Given the description of an element on the screen output the (x, y) to click on. 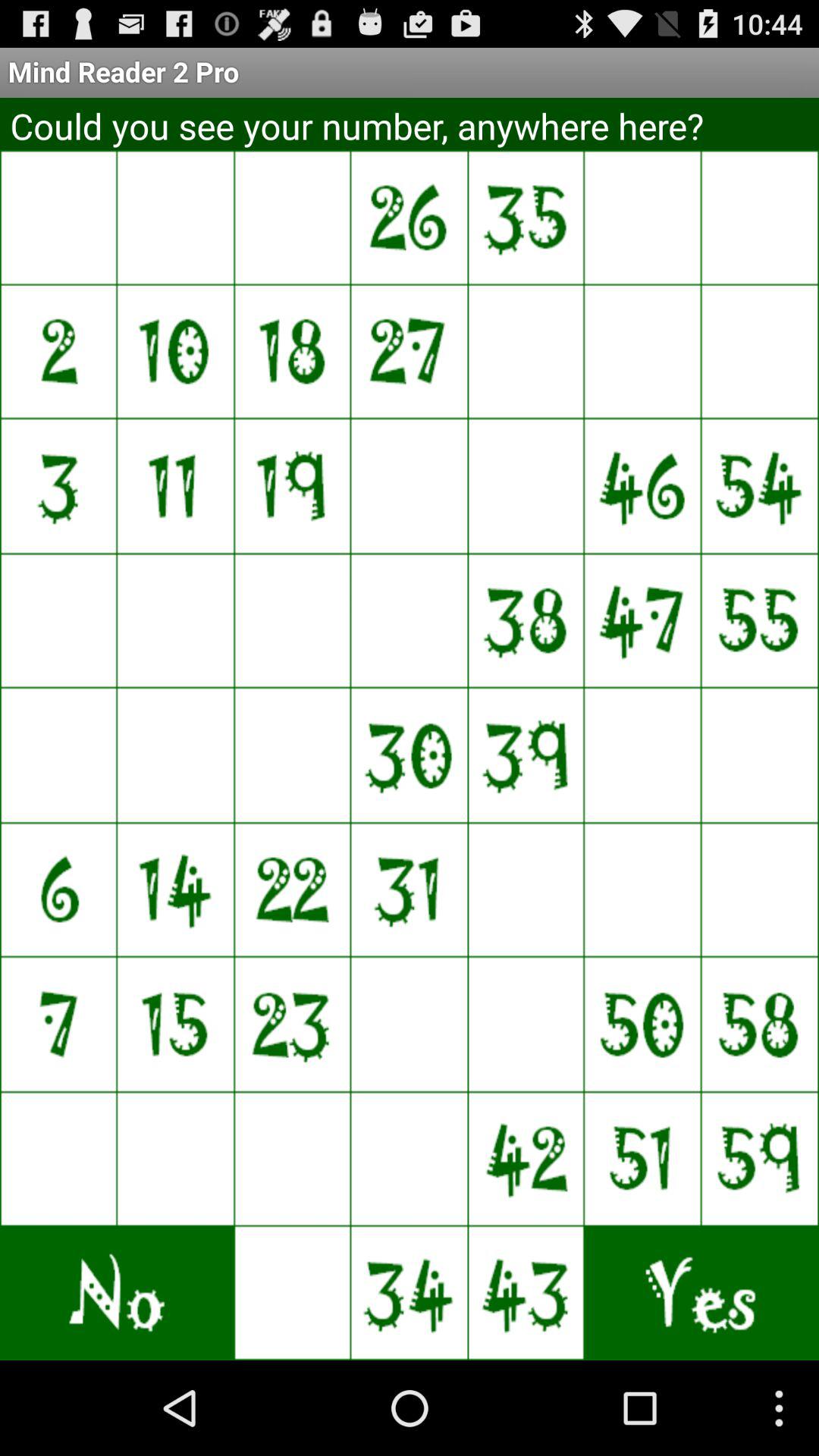
click to say no (233, 755)
